Given the description of an element on the screen output the (x, y) to click on. 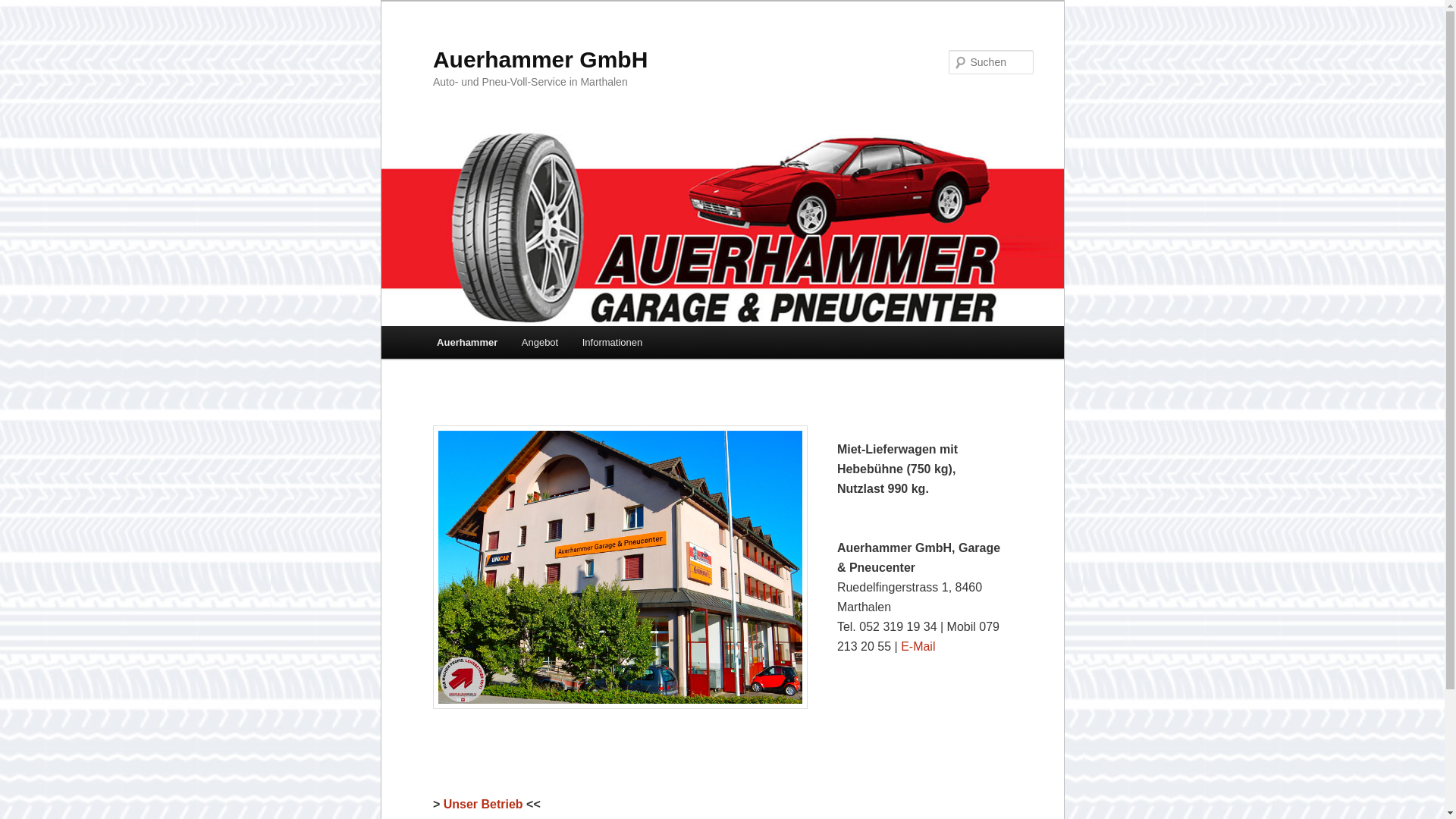
Auerhammer GmbH Element type: text (540, 59)
Zum Inhalt wechseln Element type: text (24, 0)
Angebot Element type: text (539, 342)
E-Mail Element type: text (917, 646)
Informationen Element type: text (612, 342)
Suchen Element type: text (26, 9)
Unser Betrieb Element type: text (483, 803)
Auerhammer Element type: text (466, 342)
